Given the description of an element on the screen output the (x, y) to click on. 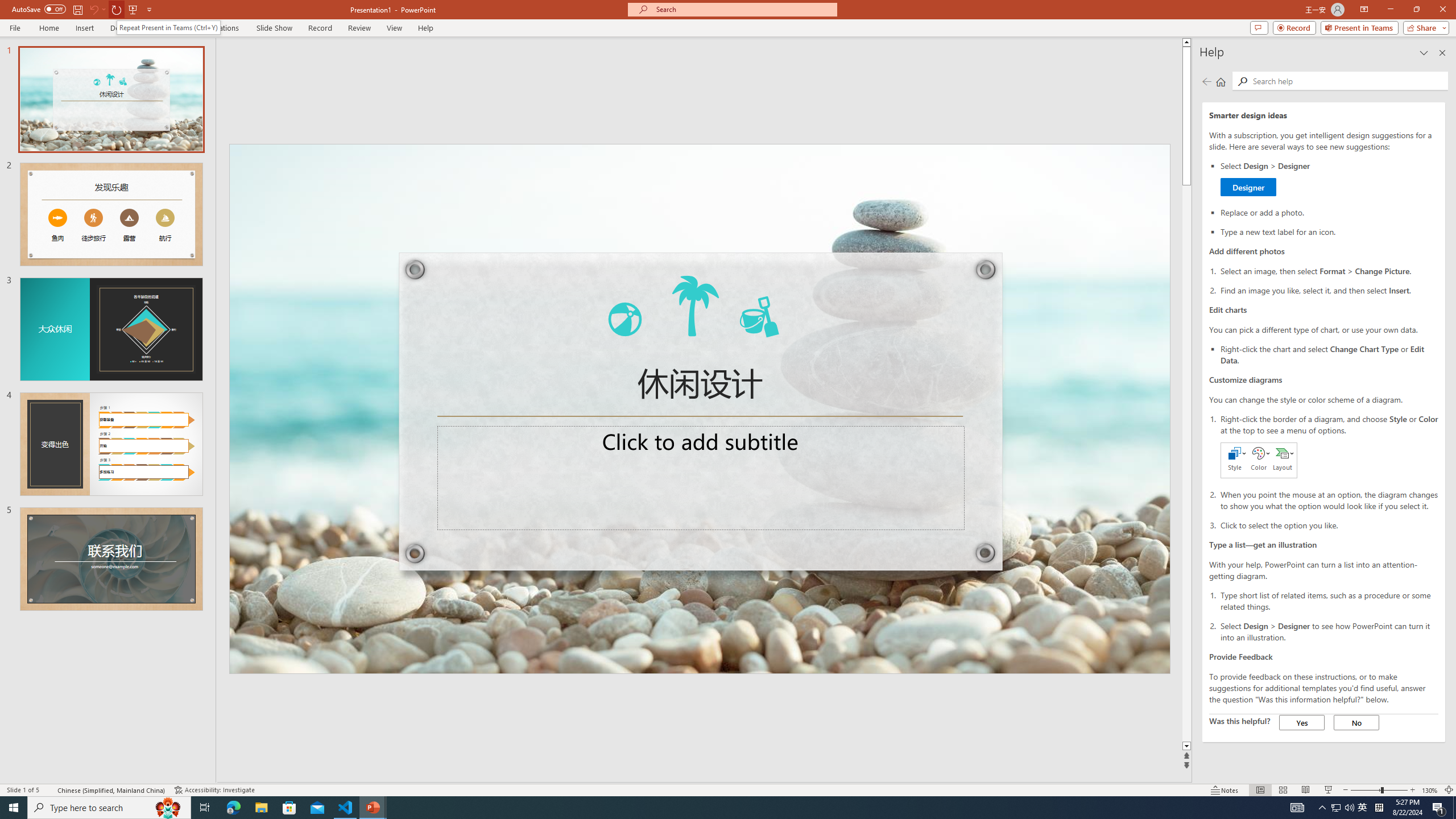
Microsoft search (742, 9)
No (1355, 722)
Previous page (1206, 81)
